Given the description of an element on the screen output the (x, y) to click on. 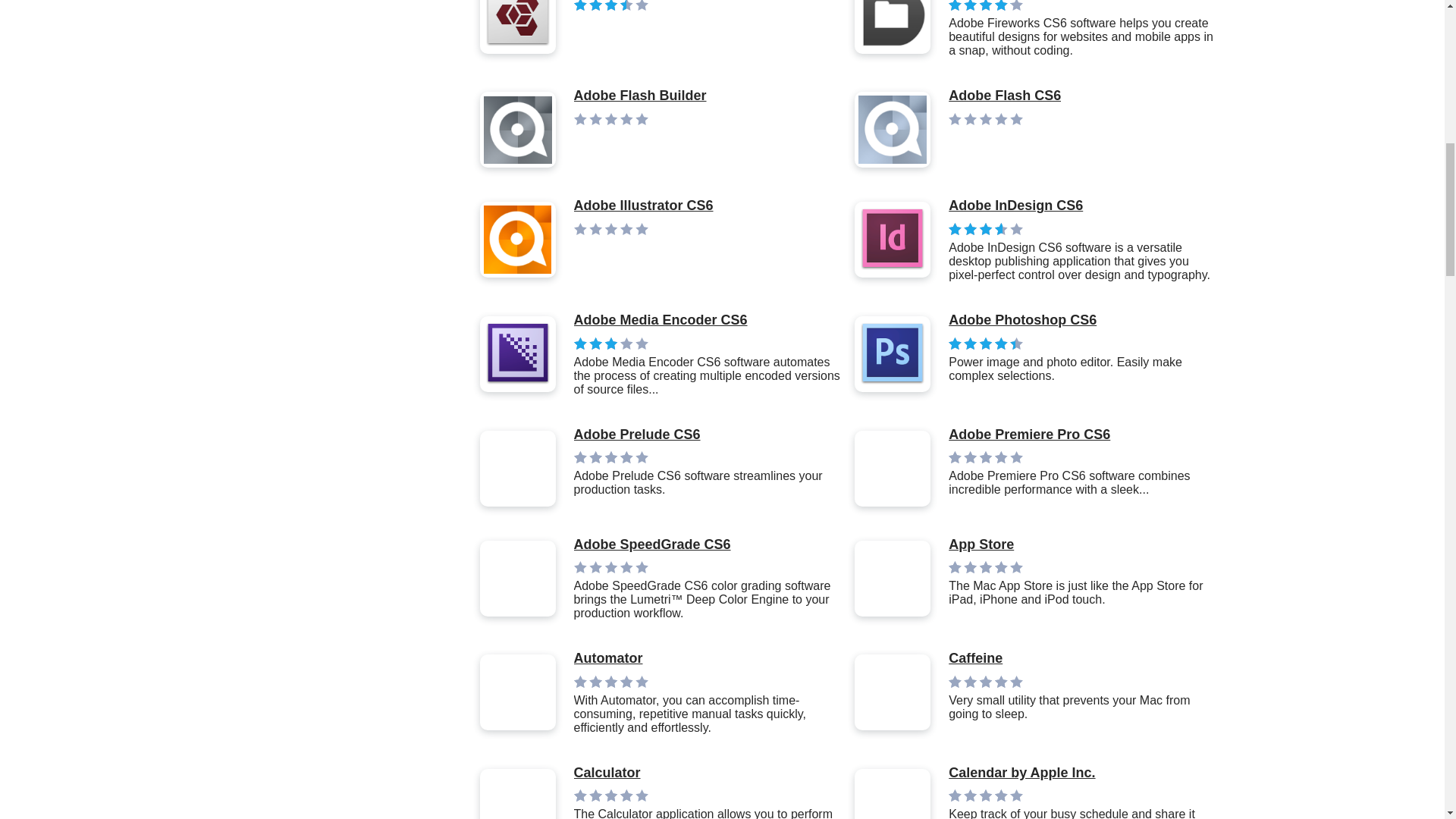
Download Adobe Media Encoder CS6 (706, 320)
Download Adobe Flash Builder (639, 95)
Download Adobe Flash CS6 (1005, 95)
Download Adobe InDesign CS6 (1081, 206)
Download Adobe Illustrator CS6 (643, 206)
